Given the description of an element on the screen output the (x, y) to click on. 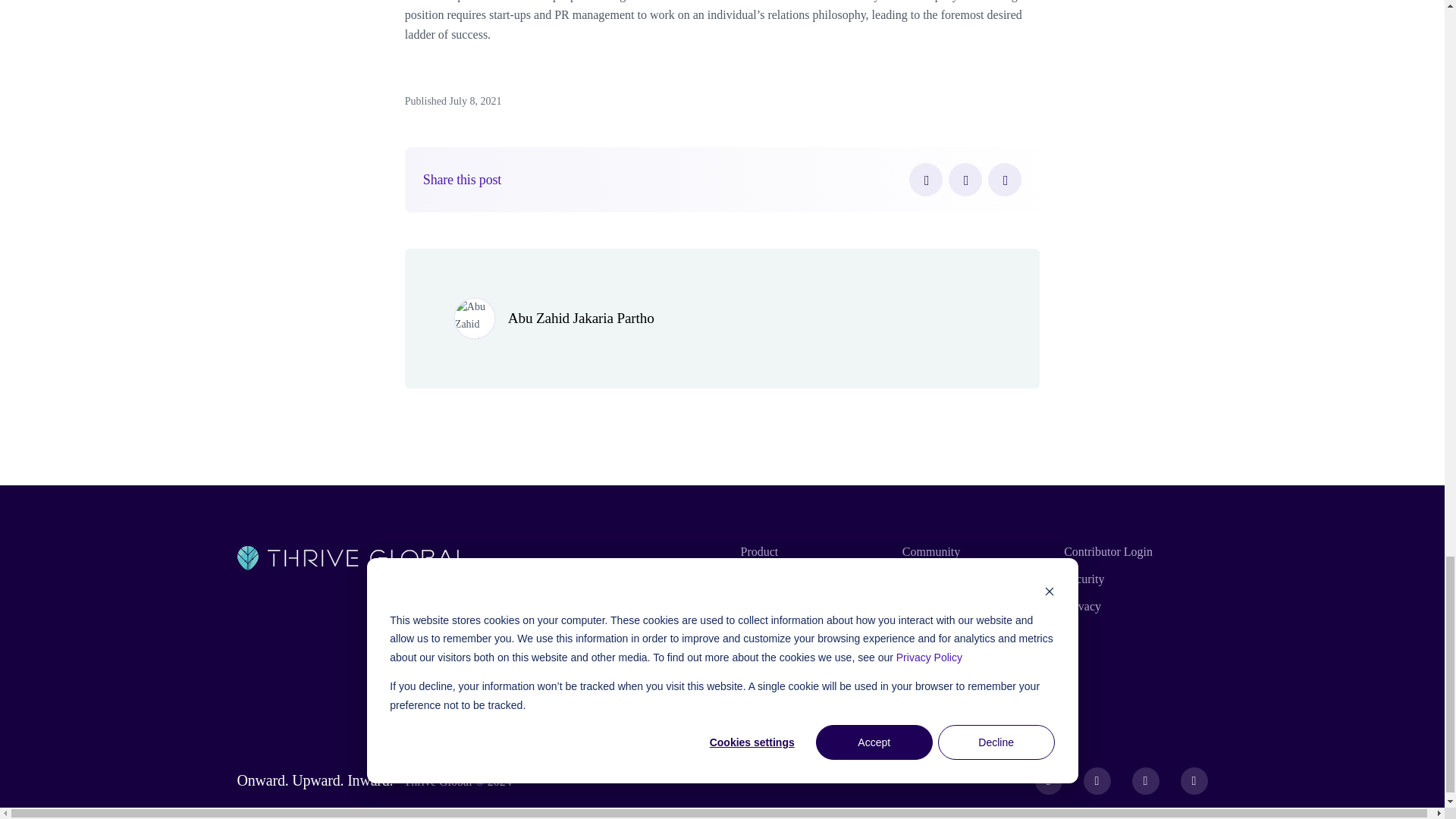
Facebook (925, 179)
LinkedIn (1005, 179)
Twitter (965, 179)
Abu Zahid Jakaria Partho (580, 317)
